Given the description of an element on the screen output the (x, y) to click on. 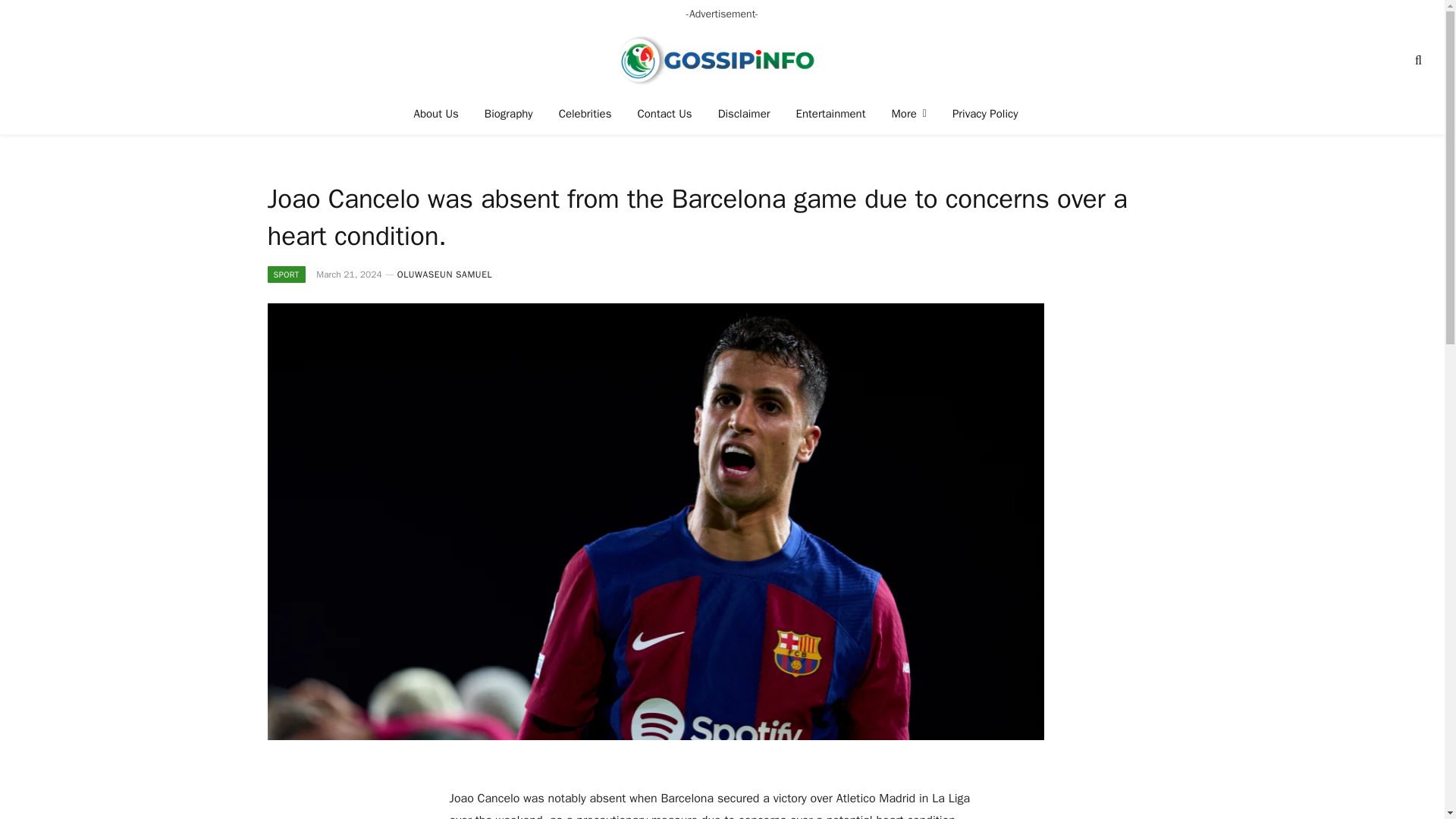
Entertainment (831, 113)
Biography (508, 113)
SPORT (285, 274)
Privacy Policy (984, 113)
Celebrities (585, 113)
Contact Us (664, 113)
Posts by Oluwaseun samuel (444, 274)
About Us (436, 113)
